Given the description of an element on the screen output the (x, y) to click on. 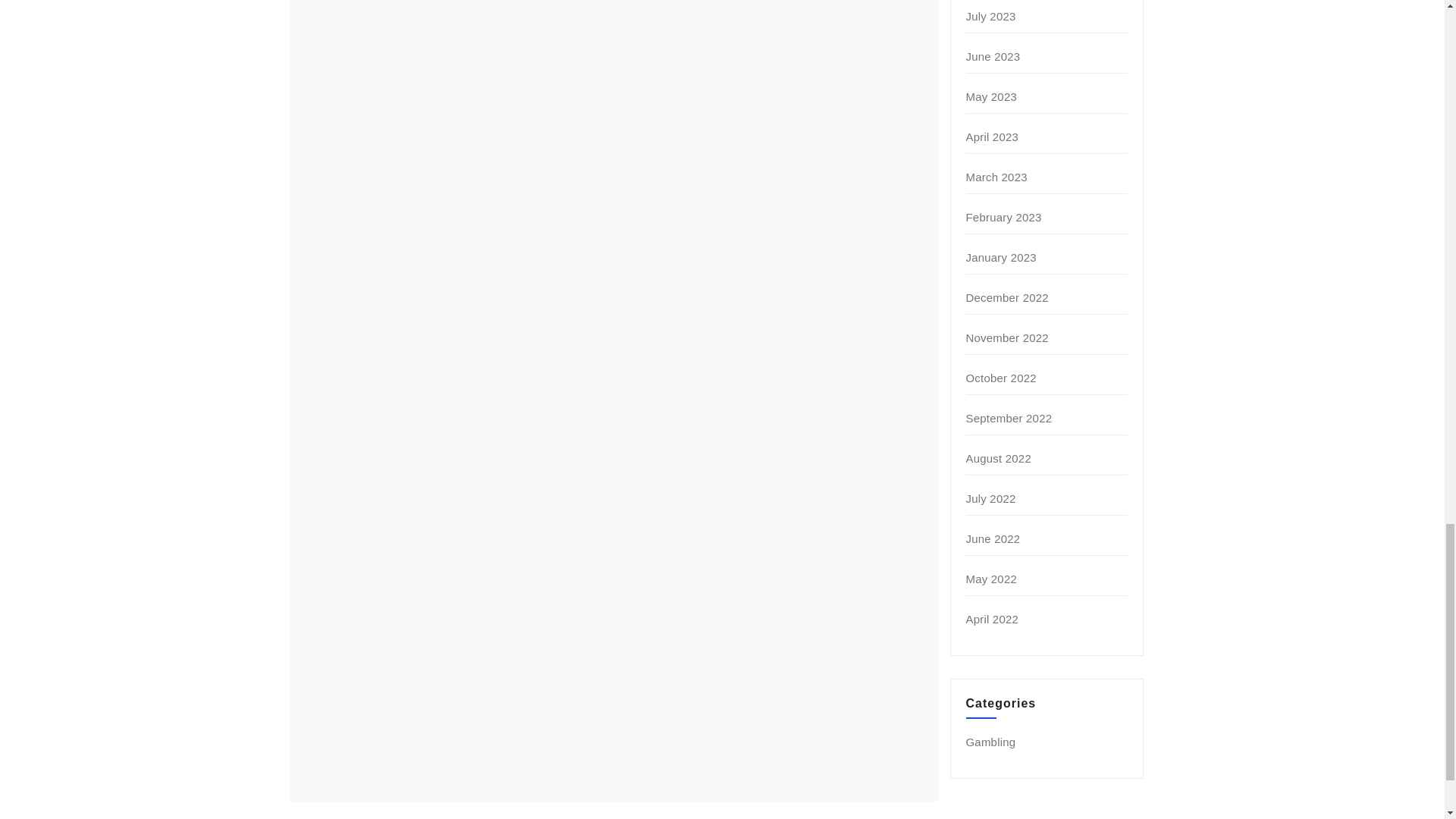
May 2023 (991, 96)
January 2023 (1001, 256)
April 2023 (992, 136)
June 2023 (993, 56)
March 2023 (996, 176)
July 2023 (991, 15)
February 2023 (1004, 216)
